Given the description of an element on the screen output the (x, y) to click on. 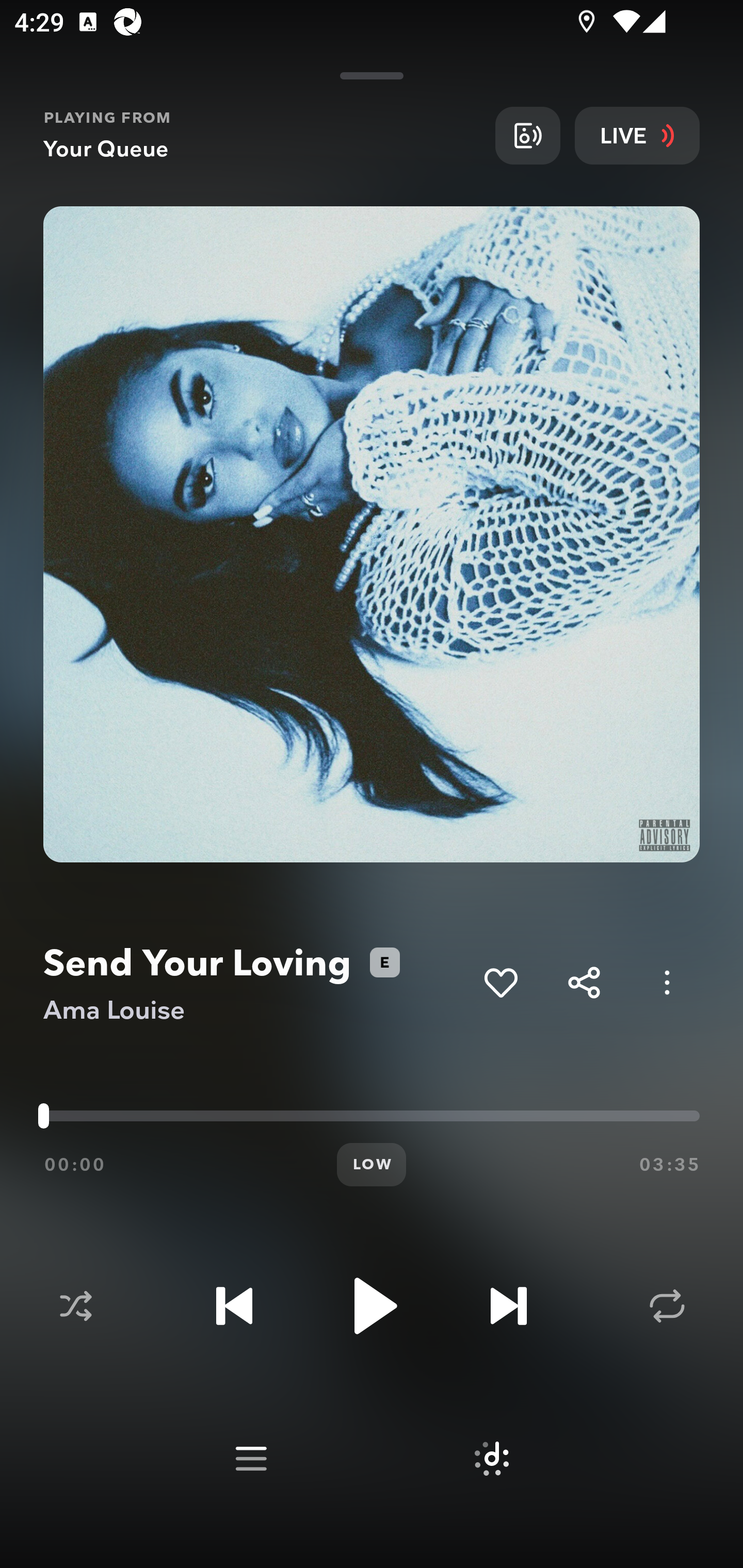
Broadcast (527, 135)
LIVE (637, 135)
PLAYING FROM Your Queue (261, 135)
Send Your Loving    Ama Louise (255, 983)
Add to My Collection (500, 982)
Share (583, 982)
Options (666, 982)
LOW (371, 1164)
Play (371, 1306)
Previous (234, 1306)
Next (508, 1306)
Shuffle disabled (75, 1306)
Repeat Off (666, 1306)
Play queue (250, 1458)
Suggested tracks (491, 1458)
